Given the description of an element on the screen output the (x, y) to click on. 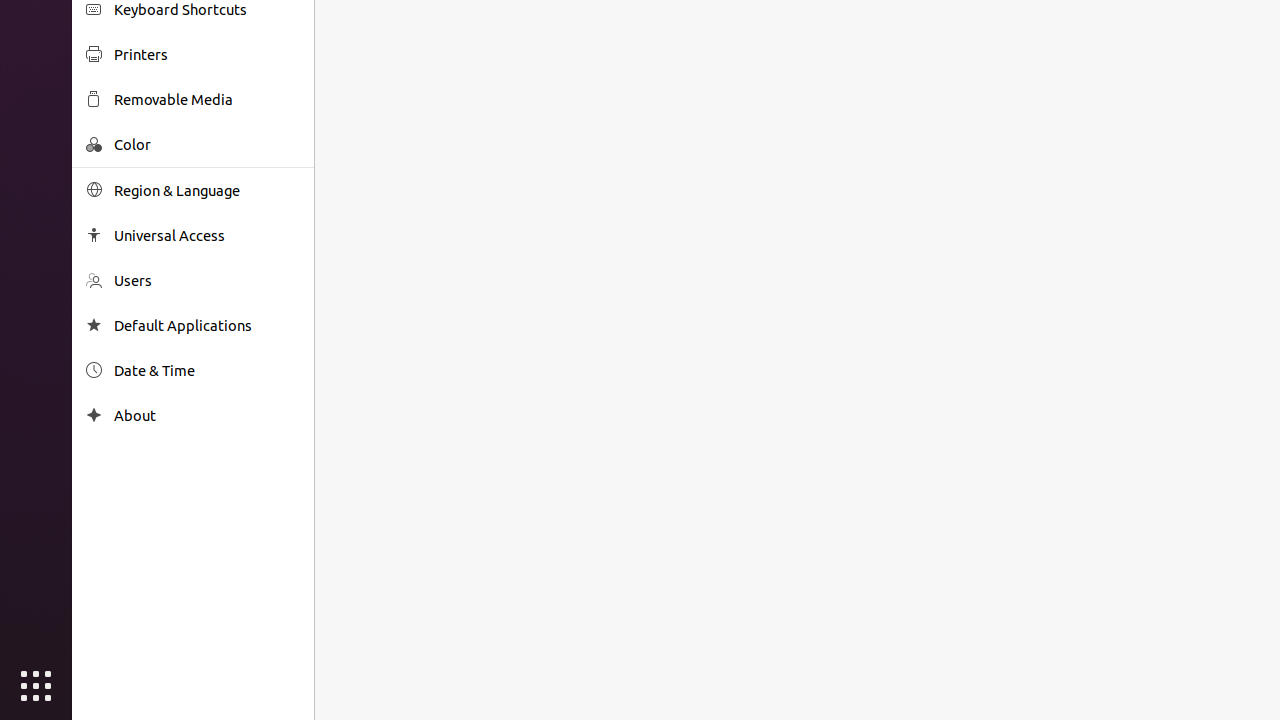
Region & Language Element type: label (207, 190)
Default Applications Element type: label (207, 325)
Universal Access Element type: label (207, 235)
About Element type: icon (94, 415)
Removable Media Element type: label (207, 99)
